Given the description of an element on the screen output the (x, y) to click on. 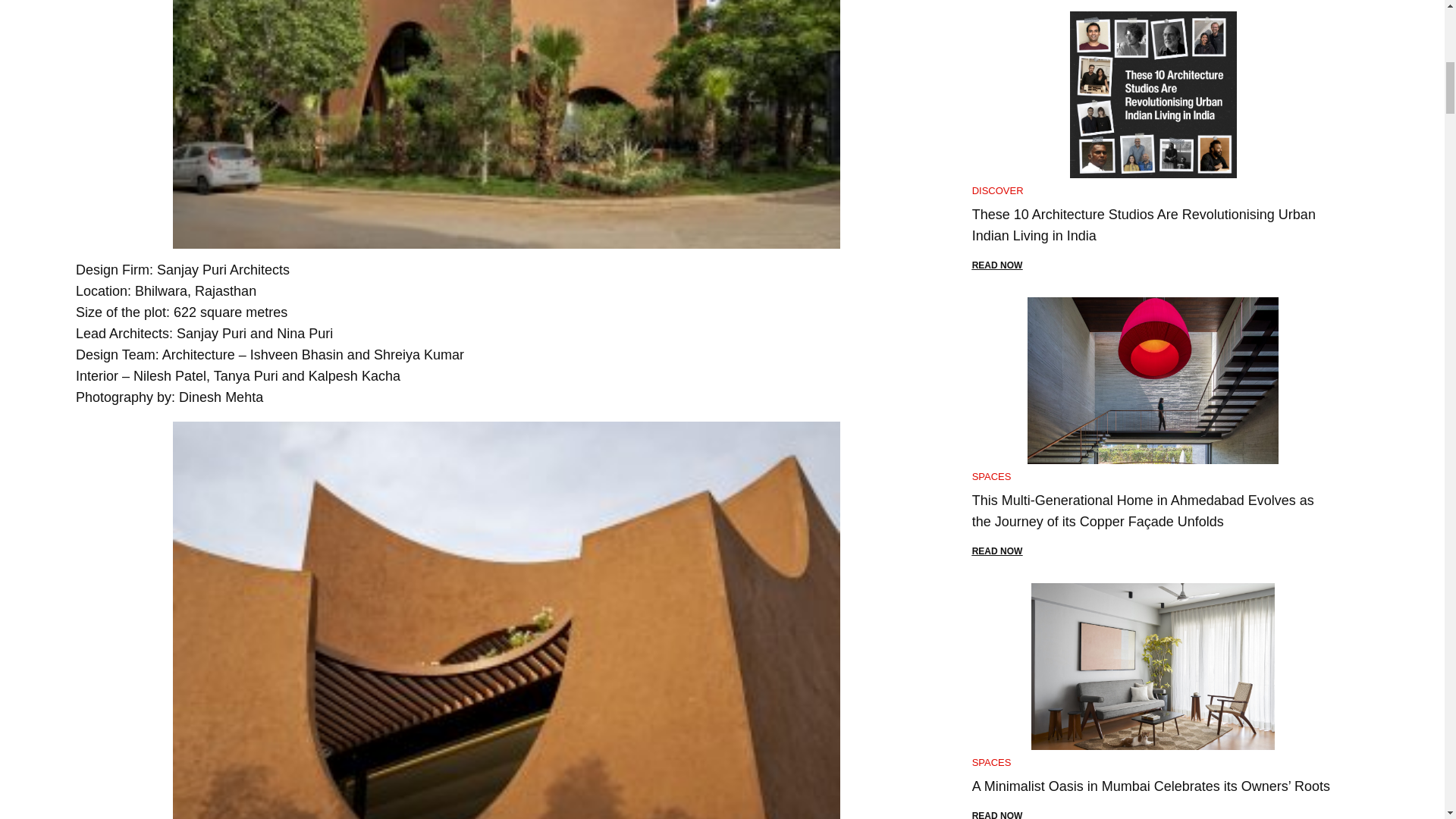
Sanjay Puri Architects (223, 269)
